Given the description of an element on the screen output the (x, y) to click on. 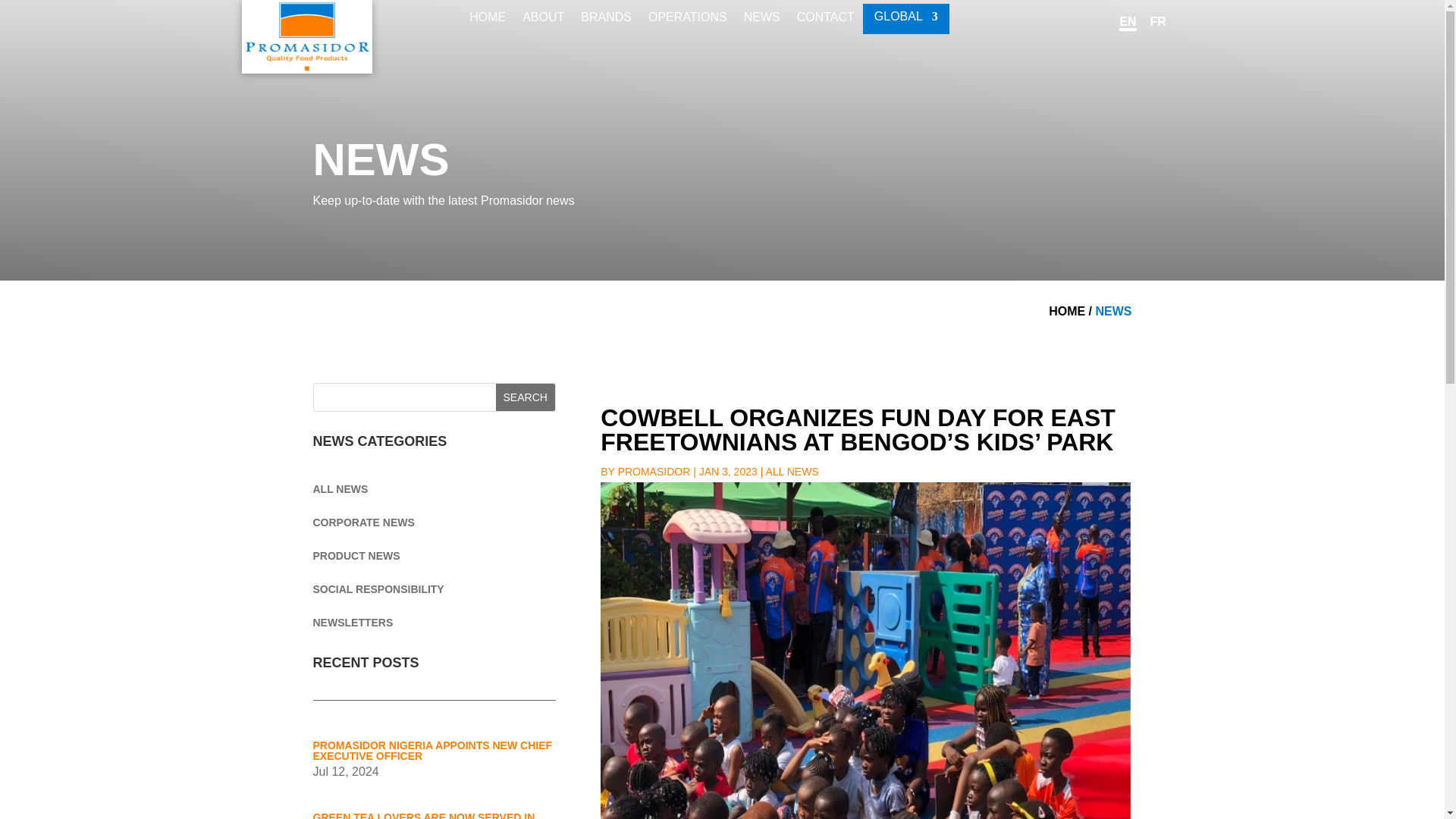
NEWS (762, 25)
NEWS (1112, 310)
Search (525, 397)
promasidor-logo (306, 36)
GLOBAL (906, 19)
FR (1158, 21)
CORPORATE NEWS (363, 522)
OPERATIONS (686, 25)
HOME (486, 25)
BRANDS (605, 25)
PROMASIDOR (653, 471)
ALL NEWS (340, 489)
Search (525, 397)
Posts by Promasidor (653, 471)
